Given the description of an element on the screen output the (x, y) to click on. 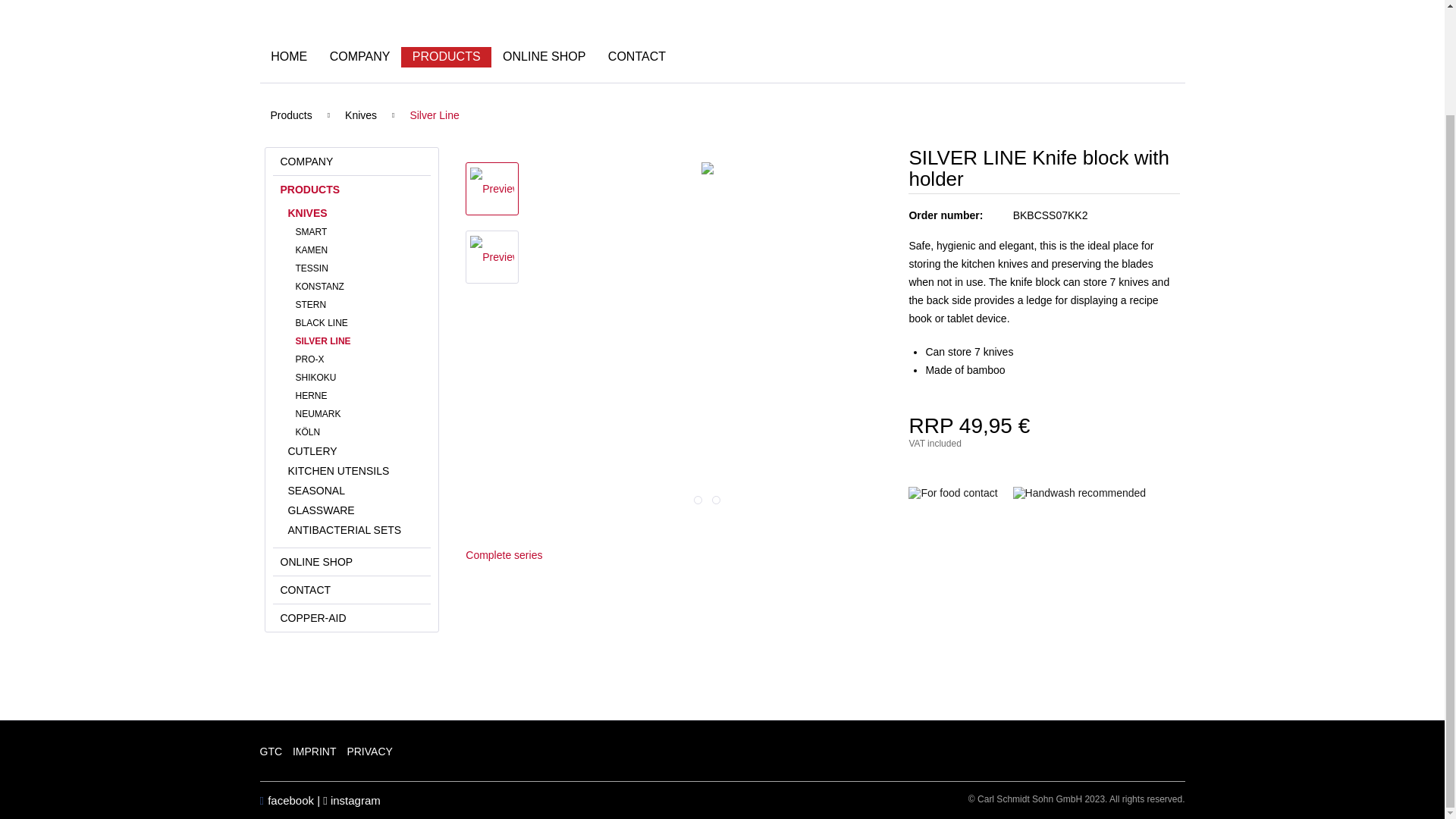
PRODUCTS (446, 56)
Online shop (544, 56)
GLASSWARE (355, 510)
HERNE (359, 395)
Smart (359, 231)
Silver Line (433, 114)
Company (351, 161)
Black Line (359, 322)
Company (359, 56)
SHIKOKU (359, 377)
Products (351, 189)
Products (290, 114)
Tessin (359, 268)
Knives (355, 212)
BLACK LINE (359, 322)
